Given the description of an element on the screen output the (x, y) to click on. 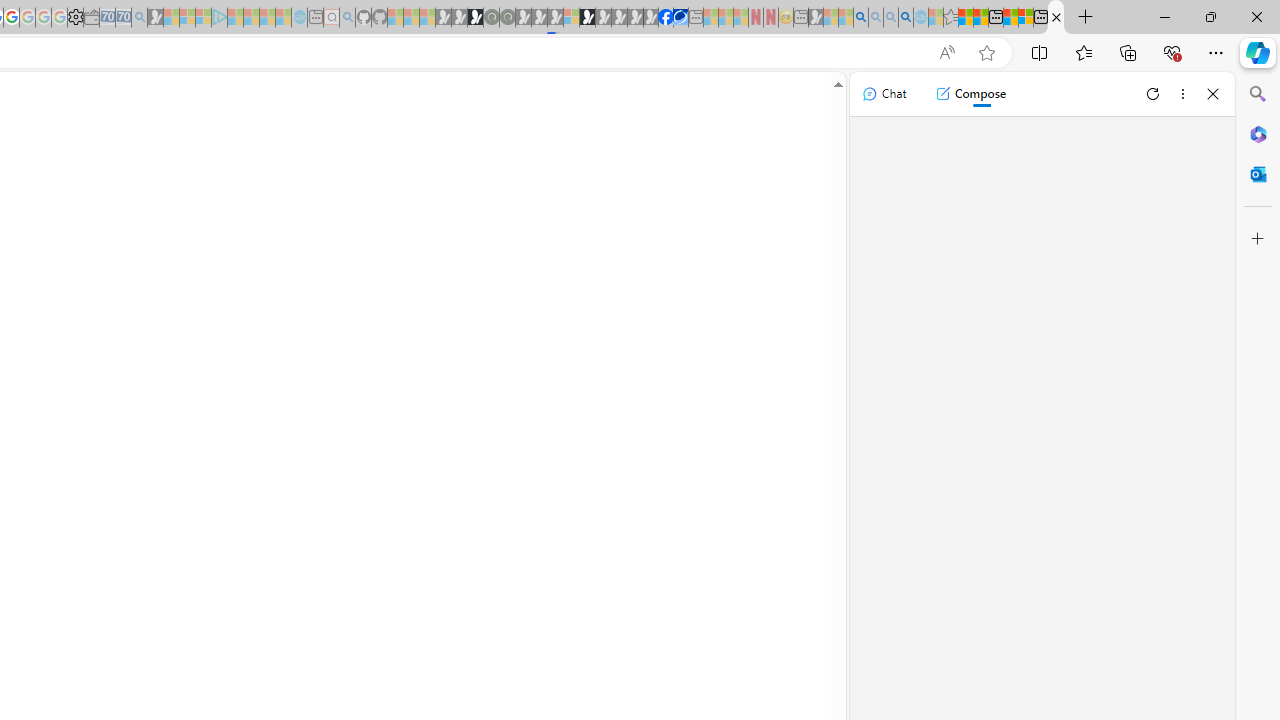
Nordace | Facebook (666, 17)
Bing AI - Search (860, 17)
